Given the description of an element on the screen output the (x, y) to click on. 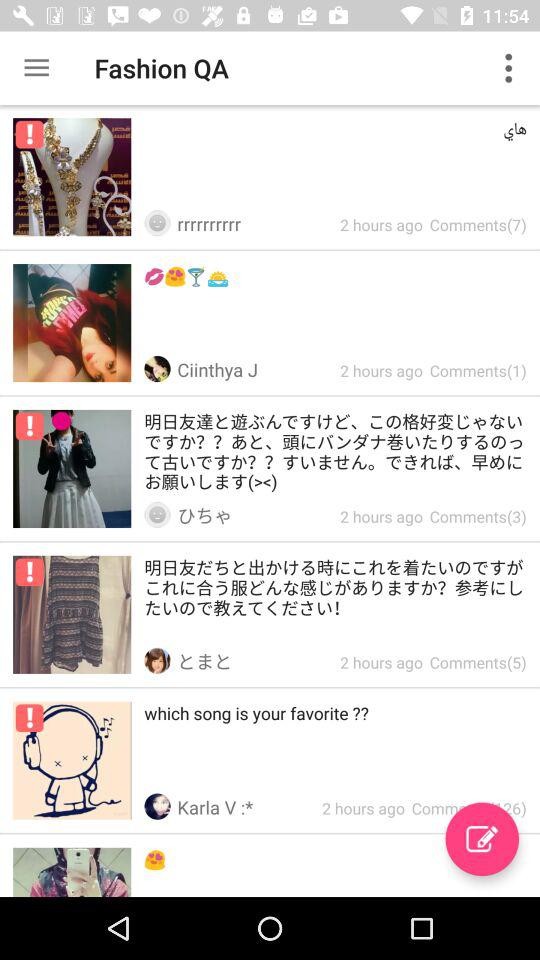
write new post (482, 839)
